Given the description of an element on the screen output the (x, y) to click on. 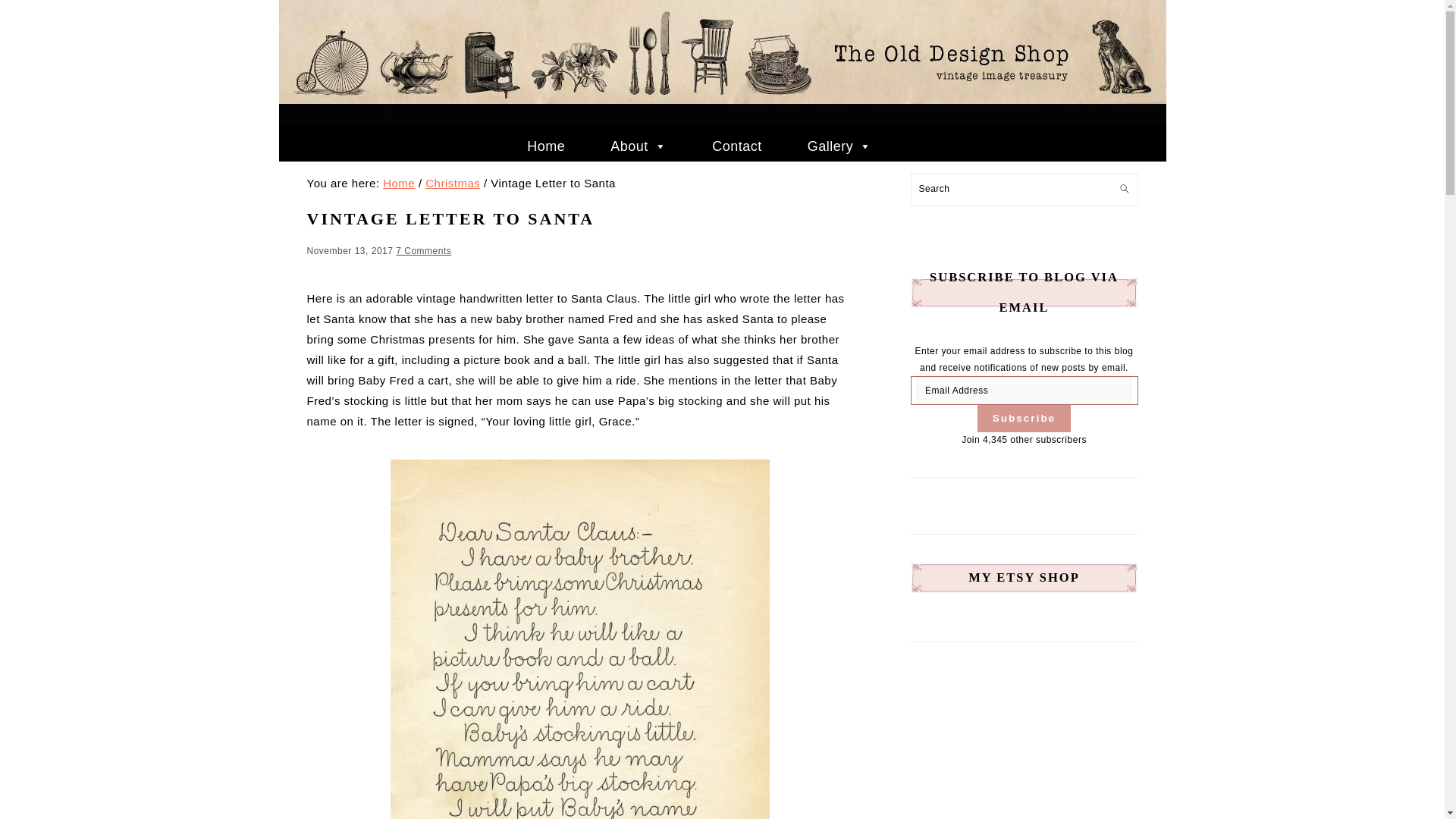
The Old Design Shop (722, 120)
Gallery (840, 146)
About (638, 146)
The Old Design Shop (722, 62)
Home (545, 146)
Contact (736, 146)
